Given the description of an element on the screen output the (x, y) to click on. 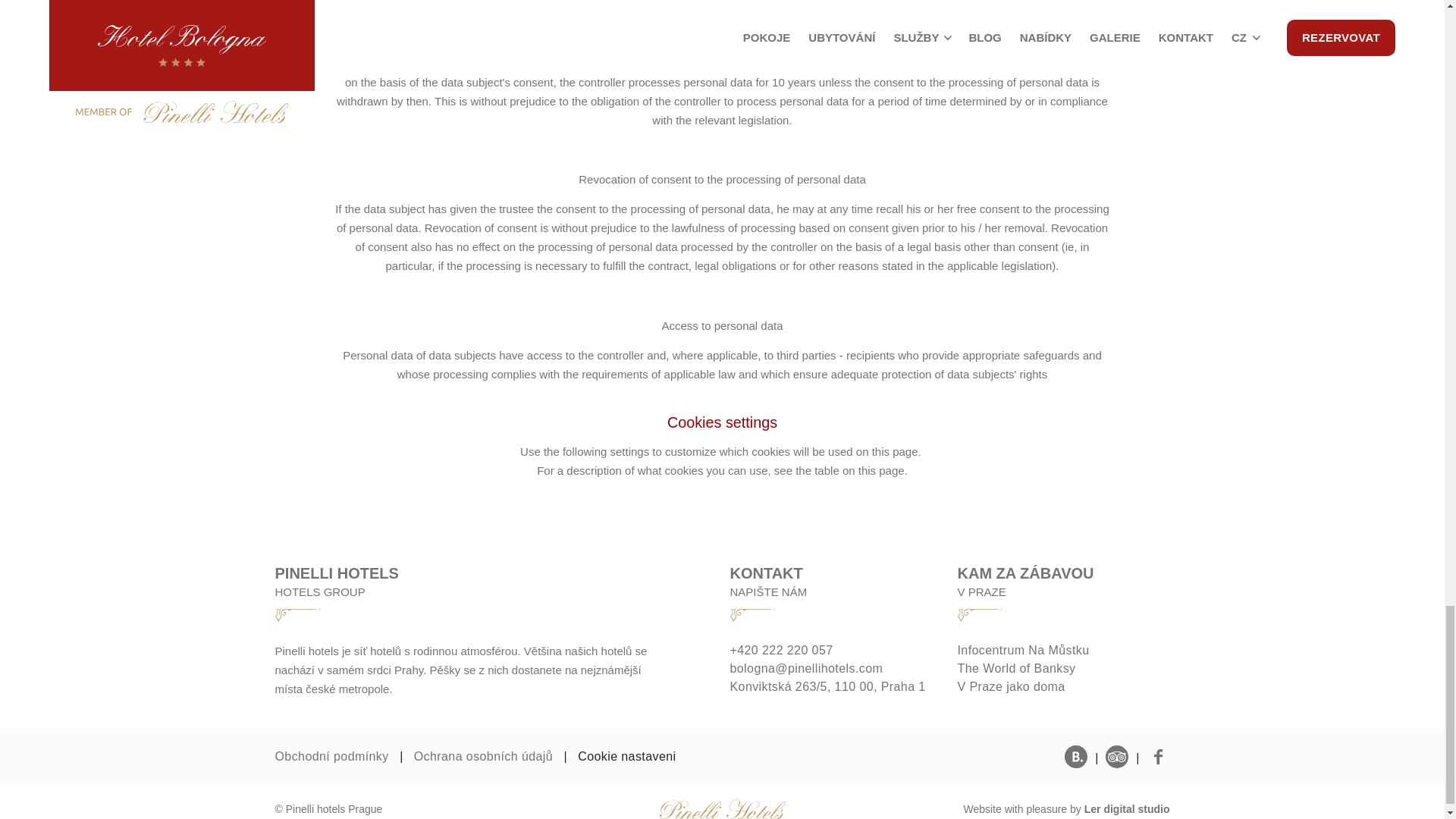
The World of Banksy (1062, 669)
V Praze jako doma (1062, 687)
